Given the description of an element on the screen output the (x, y) to click on. 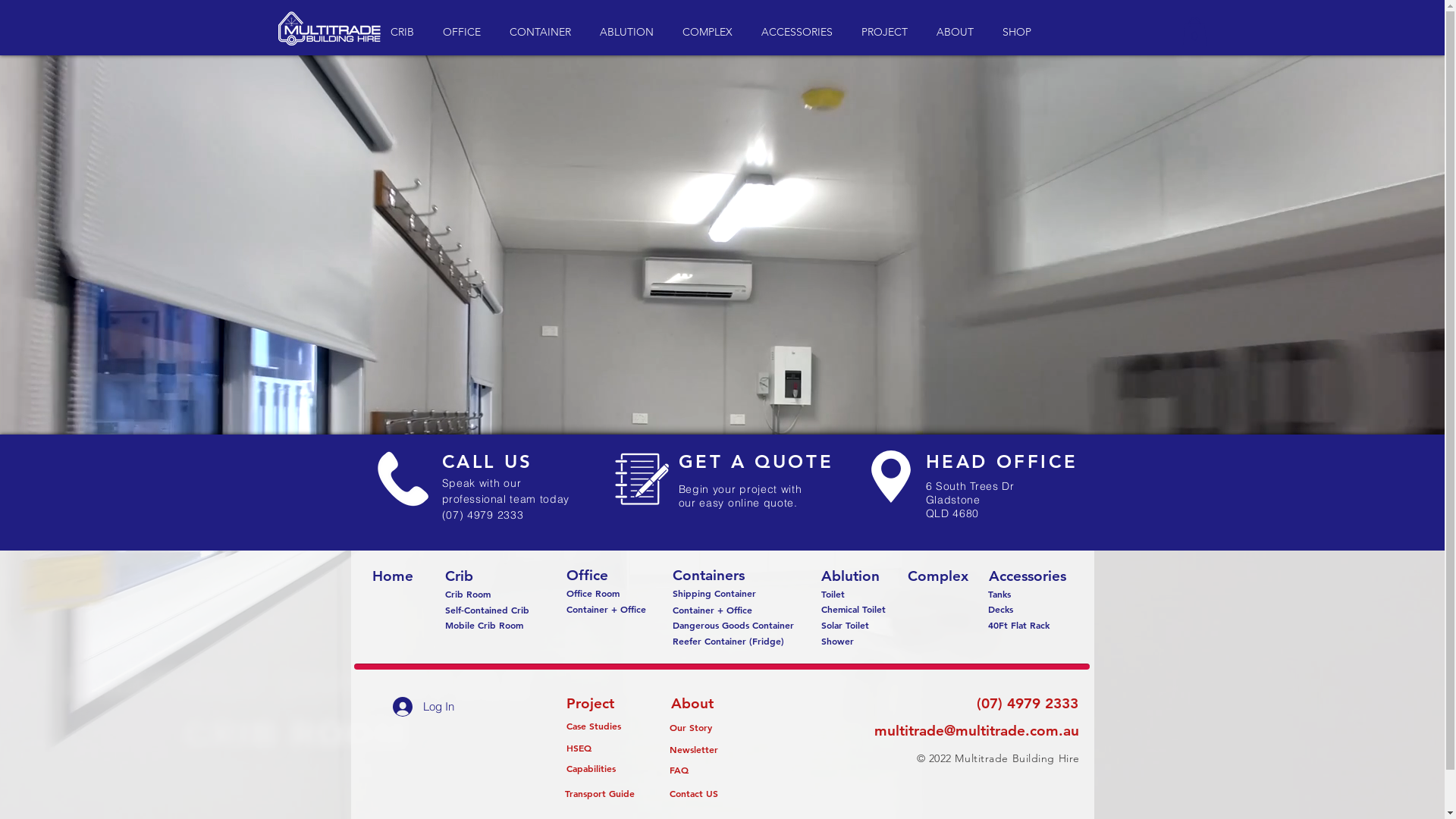
Project Element type: text (589, 703)
Solar Toilet Element type: text (844, 624)
CRIB Element type: text (405, 31)
GET A QUOTE Element type: text (755, 461)
FAQ Element type: text (678, 769)
Shipping Container Element type: text (713, 593)
COMPLEX Element type: text (709, 31)
About Element type: text (691, 703)
Office Room Element type: text (592, 593)
OFFICE Element type: text (463, 31)
Home Element type: hover (328, 27)
(07) 4979 2333 Element type: text (1026, 703)
Reefer Container (Fridge) Element type: text (727, 640)
Office Element type: text (586, 575)
ABLUTION Element type: text (629, 31)
Chemical Toilet Element type: text (852, 609)
0 Element type: text (1193, 32)
Ablution Element type: text (849, 576)
CALL US Element type: text (486, 461)
Speak with our professional team today Element type: text (505, 489)
Contact US Element type: text (692, 793)
Accessories Element type: text (1026, 576)
Toilet Element type: text (832, 593)
Container + Office Element type: text (605, 609)
Mobile Crib Room Element type: text (483, 624)
Site Search Element type: hover (1103, 33)
SHOP Element type: text (1019, 31)
40Ft Flat Rack Element type: text (1017, 624)
ACCESSORIES Element type: text (799, 31)
Begin your project with our easy online quote. Element type: text (739, 495)
HSEQ Element type: text (578, 747)
Home Element type: text (392, 576)
Complex Element type: text (936, 576)
Tanks Element type: text (998, 593)
Log In Element type: text (423, 705)
Self-Contained Crib Element type: text (486, 609)
Crib Room Element type: text (466, 593)
Dangerous Goods Container Element type: text (732, 624)
Capabilities Element type: text (590, 768)
Our Story Element type: text (689, 727)
PROJECT Element type: text (886, 31)
Transport Guide Element type: text (598, 793)
Containers Element type: text (707, 575)
Shower Element type: text (836, 640)
Case Studies Element type: text (593, 725)
Crib Element type: text (458, 576)
CONTAINER Element type: text (542, 31)
multitrade@multitrade.com.au Element type: text (975, 731)
ABOUT Element type: text (958, 31)
Decks Element type: text (1000, 609)
Newsletter Element type: text (692, 749)
6 South Trees Dr Gladstone Element type: text (969, 492)
Container + Office Element type: text (711, 609)
